Given the description of an element on the screen output the (x, y) to click on. 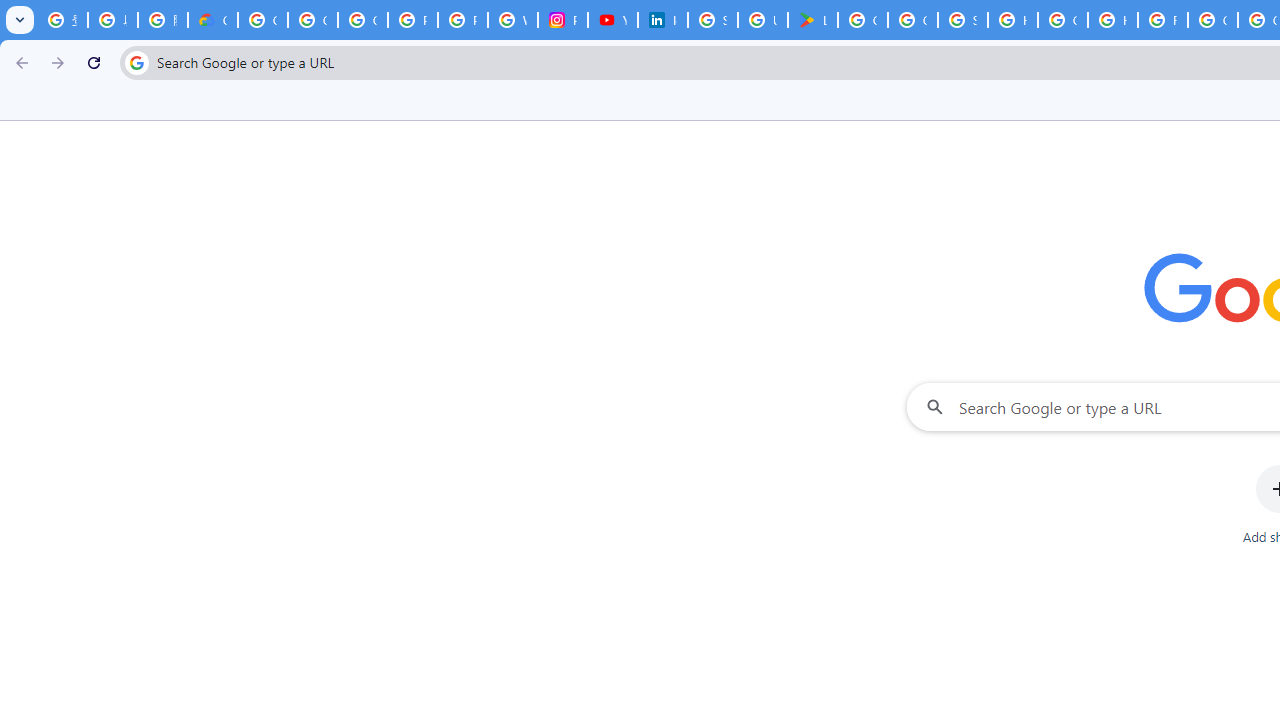
Sign in - Google Accounts (712, 20)
YouTube Culture & Trends - On The Rise: Handcam Videos (612, 20)
How do I create a new Google Account? - Google Account Help (1112, 20)
